Given the description of an element on the screen output the (x, y) to click on. 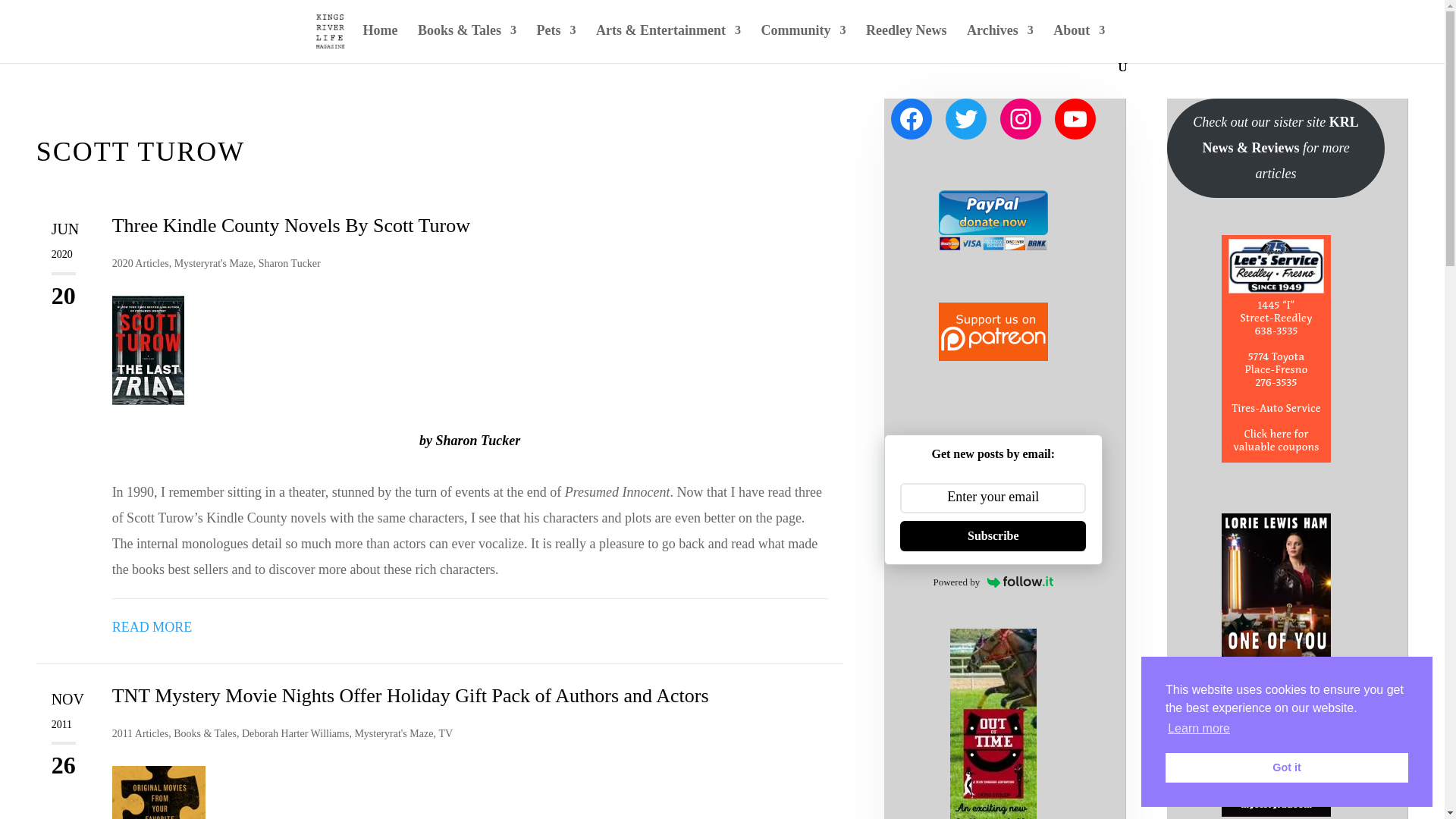
Pets (556, 42)
Archives (999, 42)
Reedley News (906, 42)
Community (802, 42)
Home (379, 42)
